Given the description of an element on the screen output the (x, y) to click on. 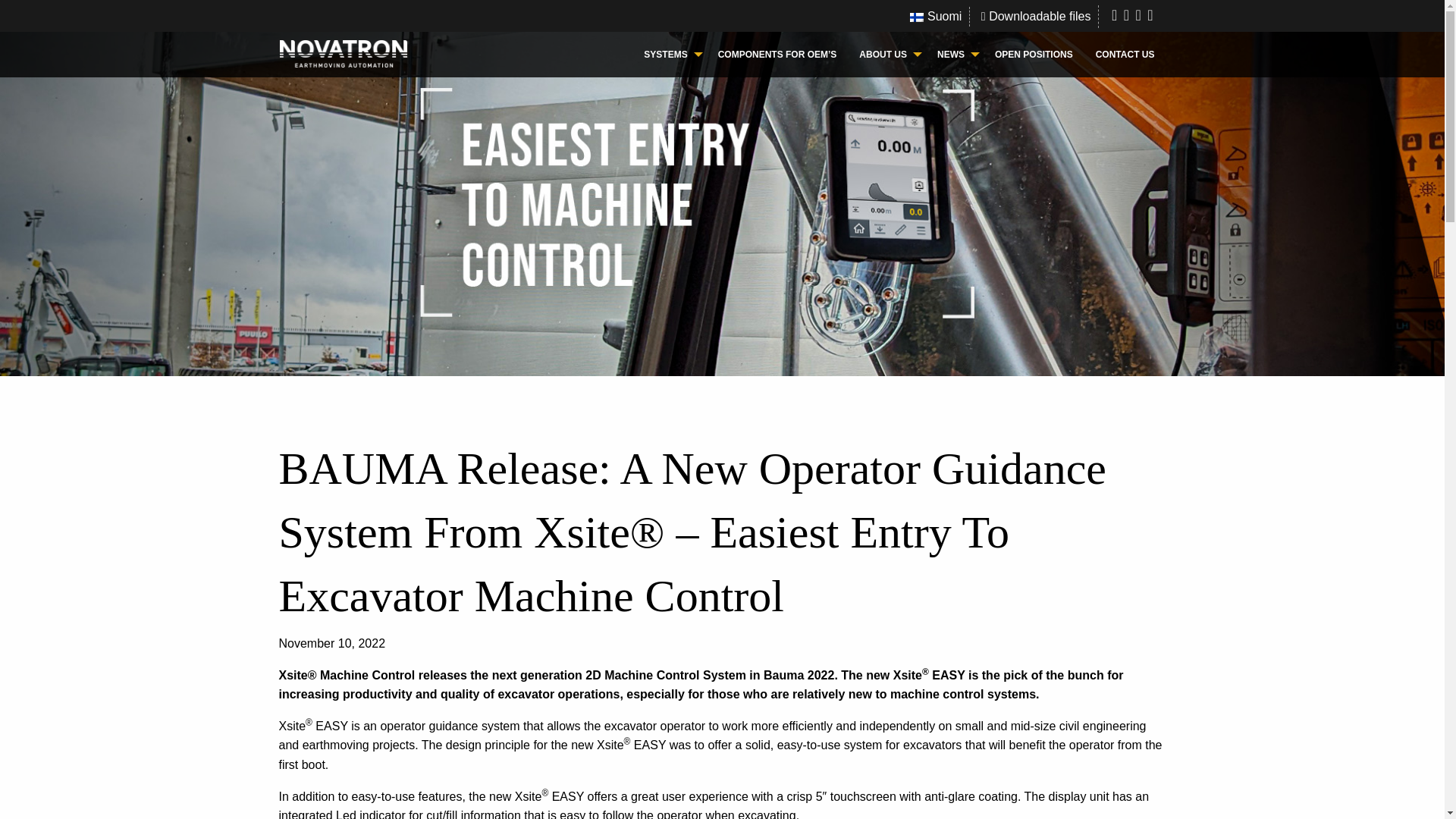
SYSTEMS (668, 53)
Suomi (935, 15)
CONTACT US (1125, 53)
Downloadable files (1036, 15)
ABOUT US (886, 53)
OPEN POSITIONS (1034, 53)
NEWS (955, 53)
